Given the description of an element on the screen output the (x, y) to click on. 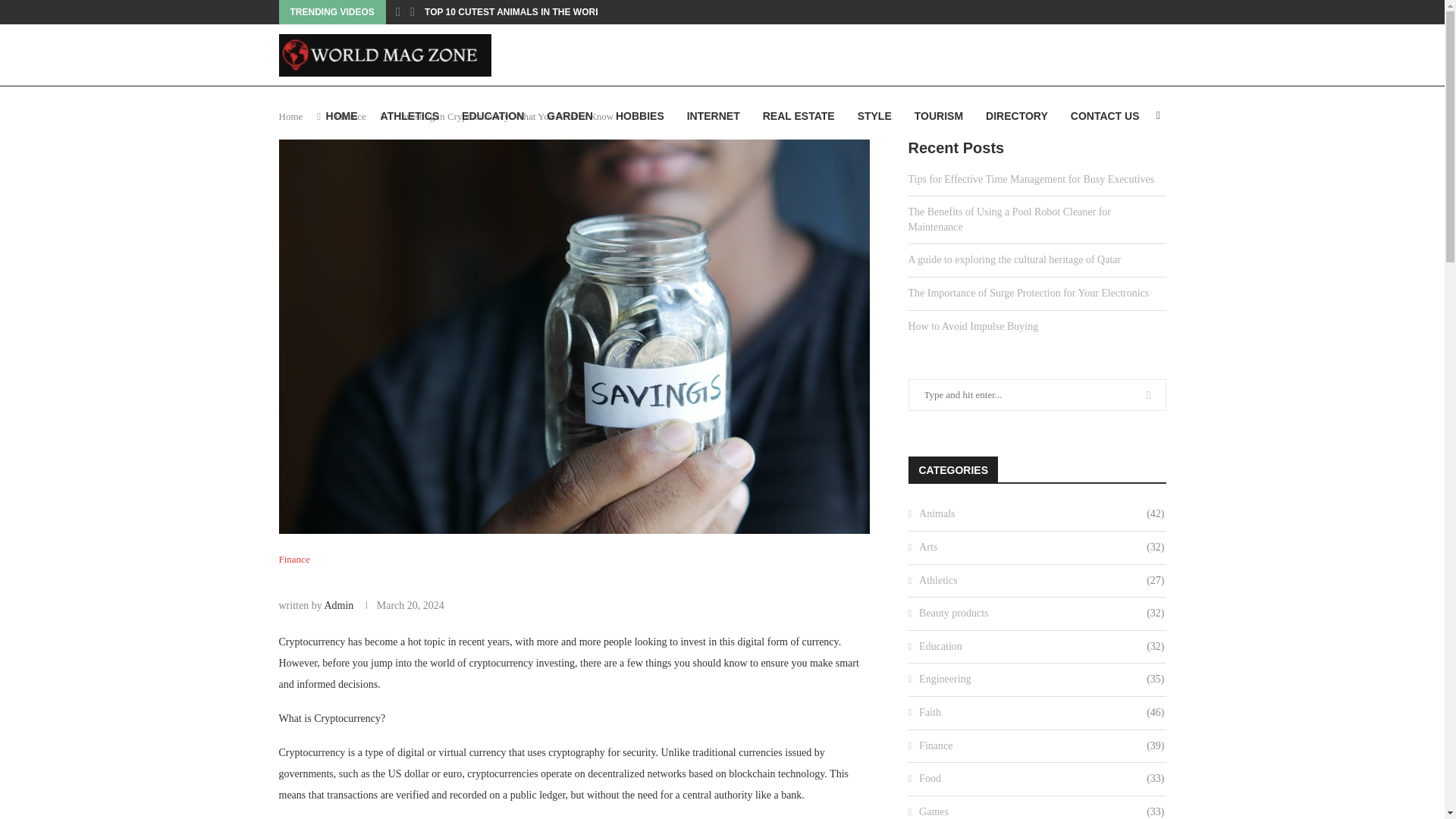
TOP 10 CUTEST ANIMALS IN THE WORLD (516, 12)
Home (290, 116)
Finance (350, 116)
REAL ESTATE (798, 115)
DIRECTORY (1016, 115)
CONTACT US (1105, 115)
EDUCATION (492, 115)
ATHLETICS (409, 115)
